Given the description of an element on the screen output the (x, y) to click on. 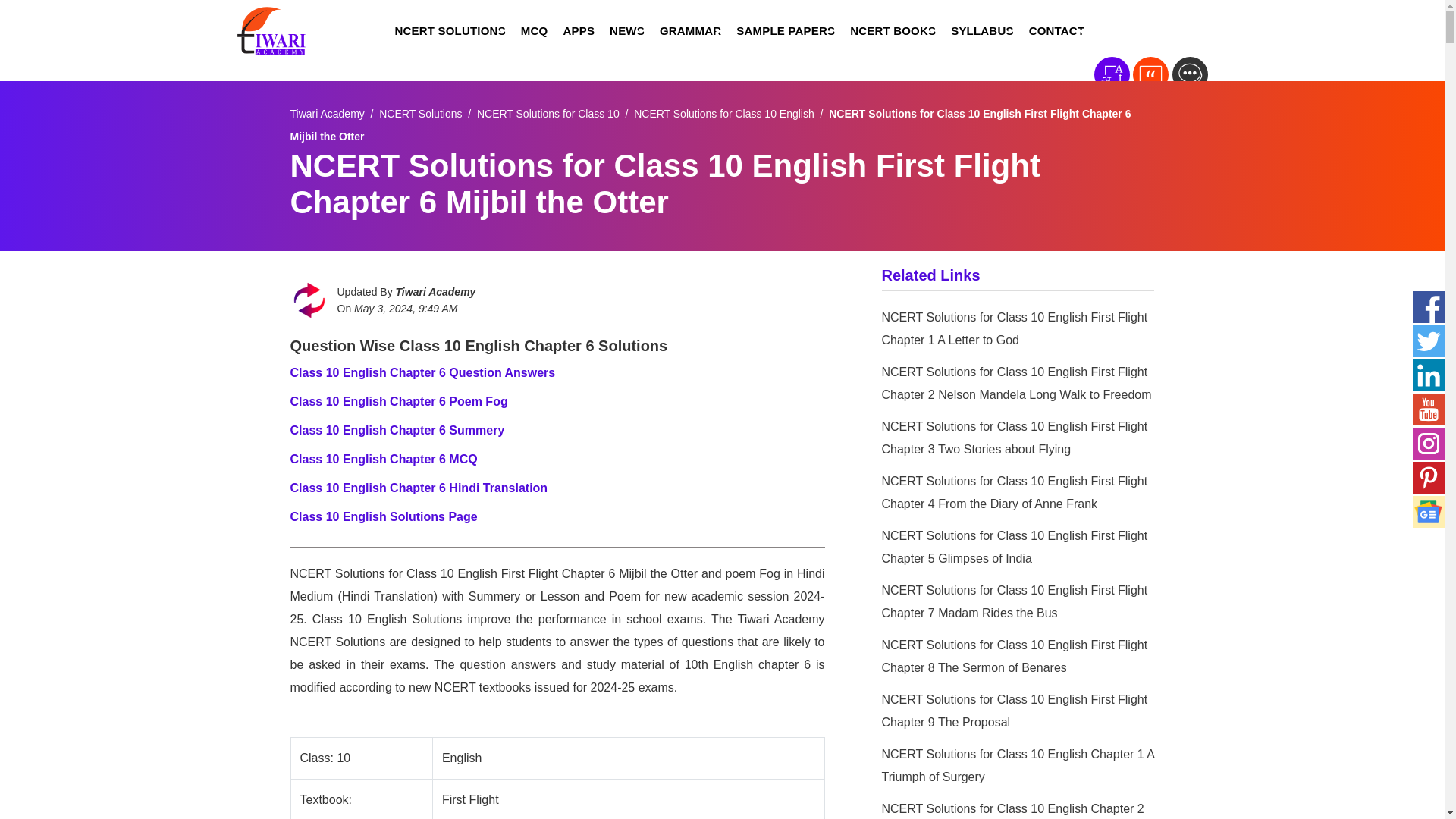
NCERT Solutions for Class 10 (548, 113)
Back to top (1414, 780)
NCERT Solutions (419, 113)
NCERT Solutions for Class 10 English (723, 113)
Tiwari Academy  - Free CBSE NCERT Books and Solutions (326, 113)
NCERT SOLUTIONS (449, 30)
